Given the description of an element on the screen output the (x, y) to click on. 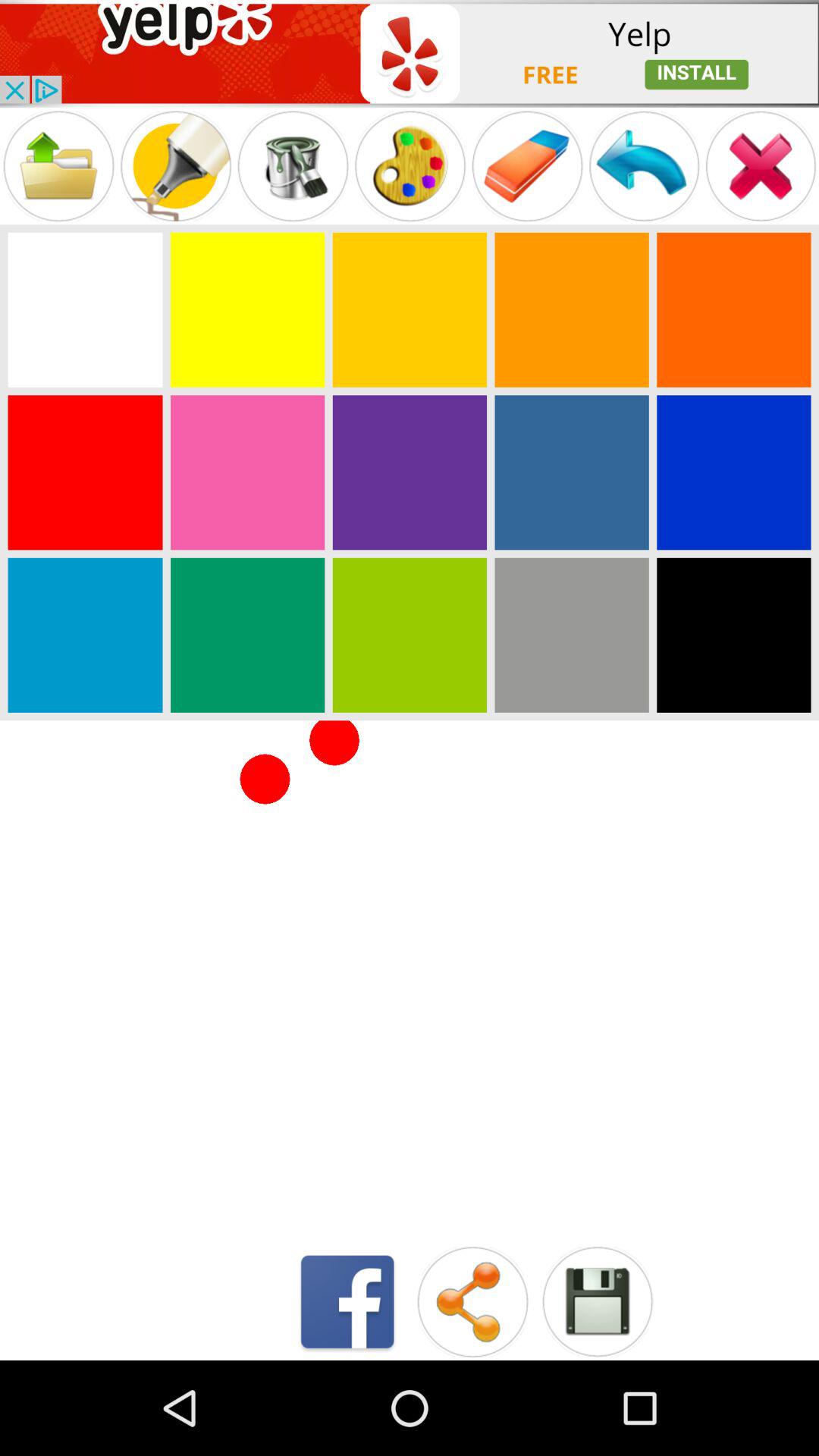
share to facebook (347, 1301)
